Given the description of an element on the screen output the (x, y) to click on. 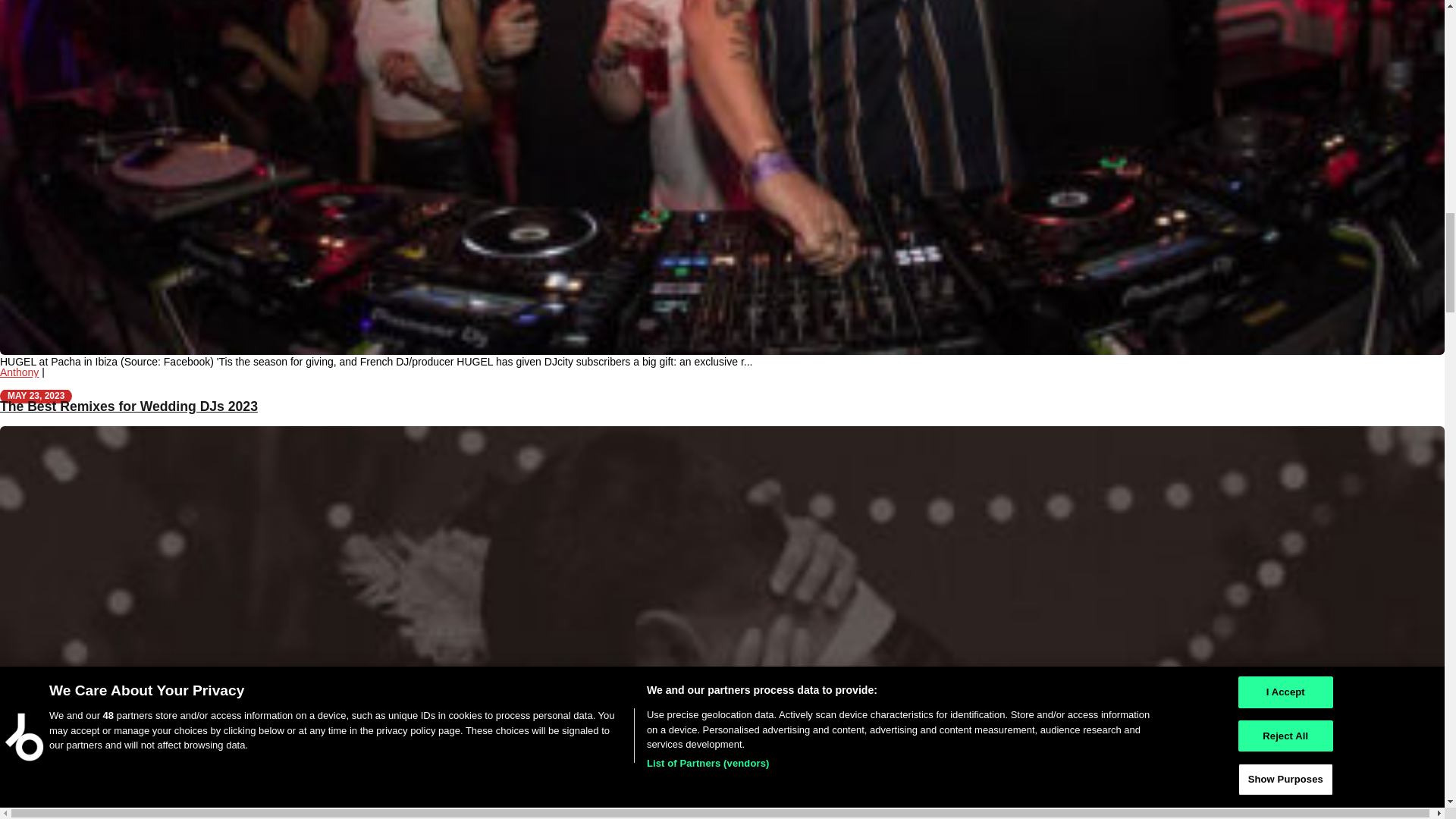
The Best Remixes for Wedding DJs 2023 (128, 406)
Anthony (19, 372)
